Given the description of an element on the screen output the (x, y) to click on. 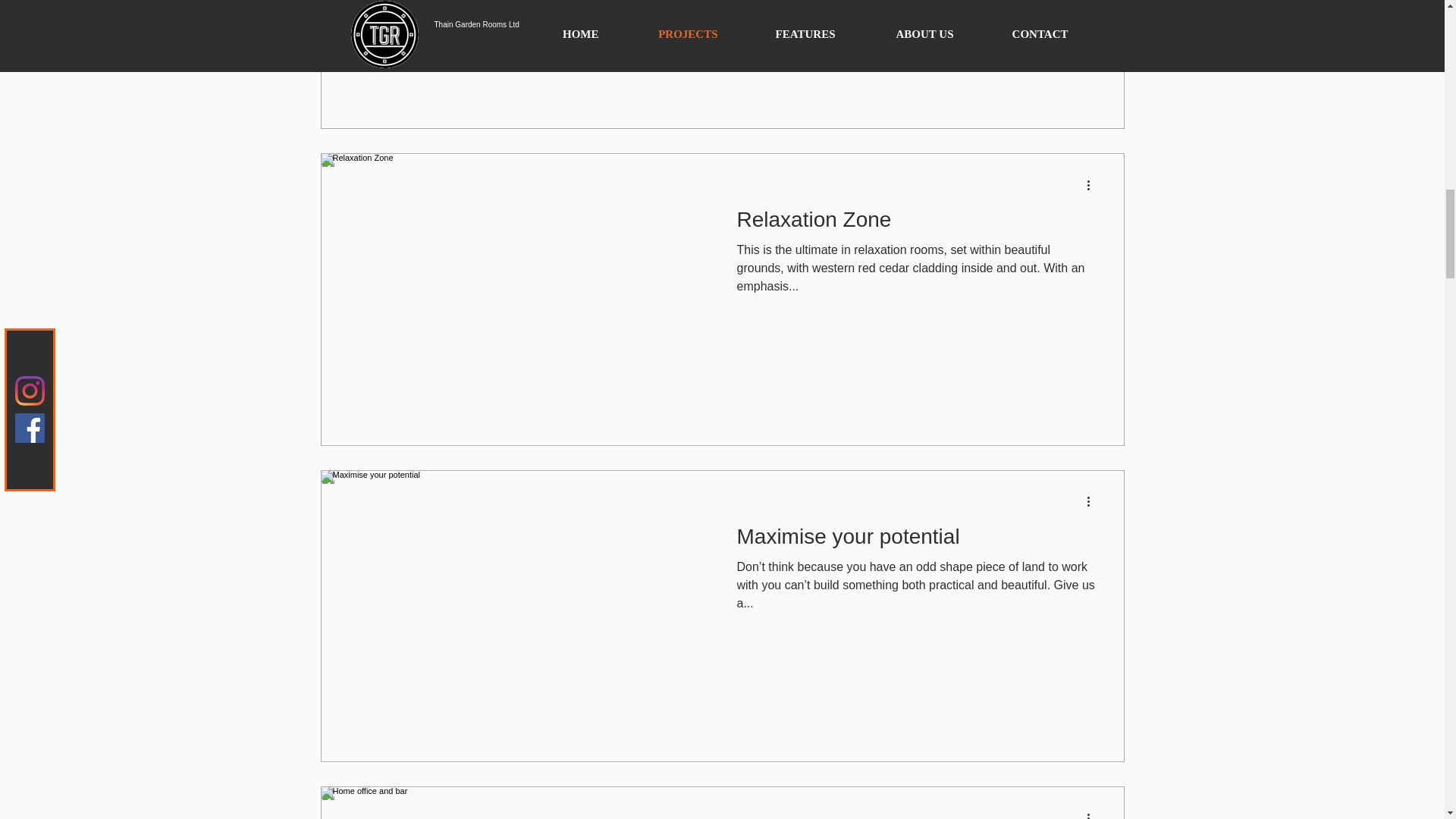
Relaxation Zone (916, 223)
Maximise your potential (916, 540)
